Given the description of an element on the screen output the (x, y) to click on. 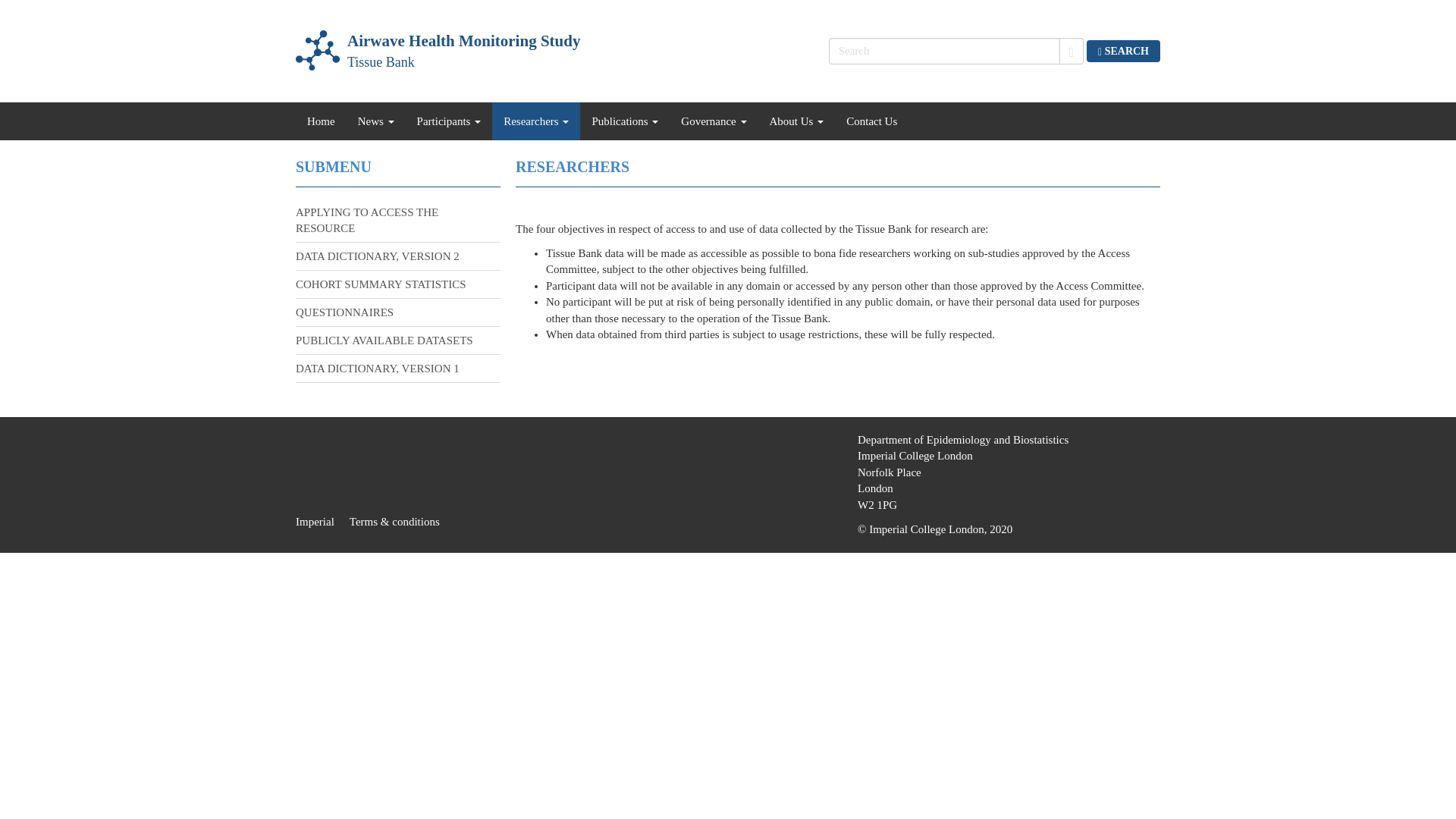
Imperial College London website (322, 521)
Home (437, 51)
SEARCH (437, 51)
